Given the description of an element on the screen output the (x, y) to click on. 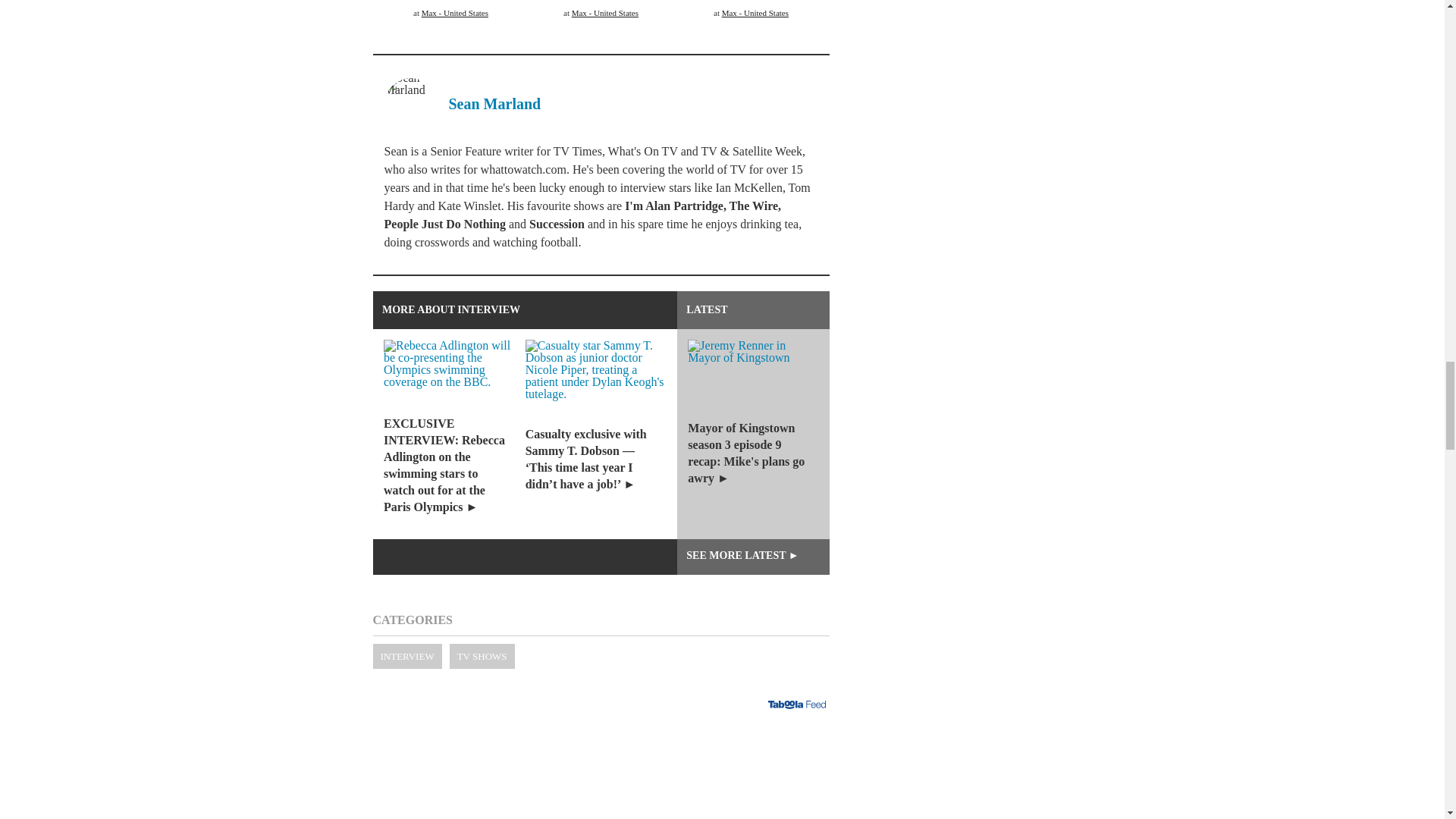
Play War Thunder now for free (600, 771)
